Given the description of an element on the screen output the (x, y) to click on. 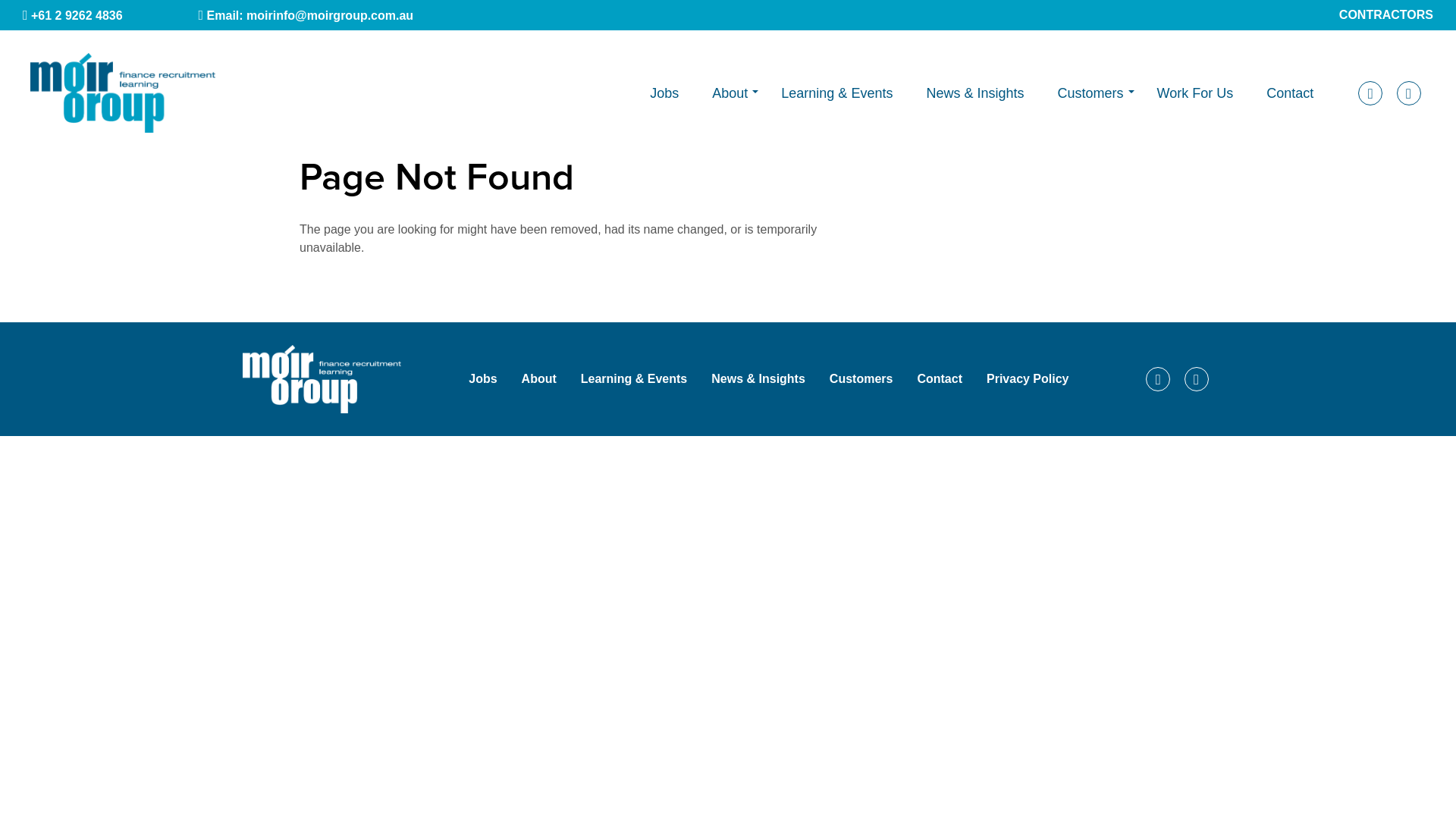
Work For Us Element type: text (1195, 93)
Customers Element type: text (861, 378)
About Element type: text (729, 93)
News & Insights Element type: text (974, 93)
News & Insights Element type: text (758, 378)
Customers Element type: text (1089, 93)
Jobs Element type: text (482, 378)
Contact Element type: text (1289, 93)
Learning & Events Element type: text (836, 93)
CONTRACTORS Element type: text (1386, 14)
Privacy Policy Element type: text (1027, 378)
Moir Group Element type: hover (321, 379)
+61 2 9262 4836 Element type: text (110, 14)
About Element type: text (538, 378)
Email: moirinfo@moirgroup.com.au Element type: text (343, 14)
Contact Element type: text (939, 378)
Jobs Element type: text (664, 93)
Learning & Events Element type: text (633, 378)
